Given the description of an element on the screen output the (x, y) to click on. 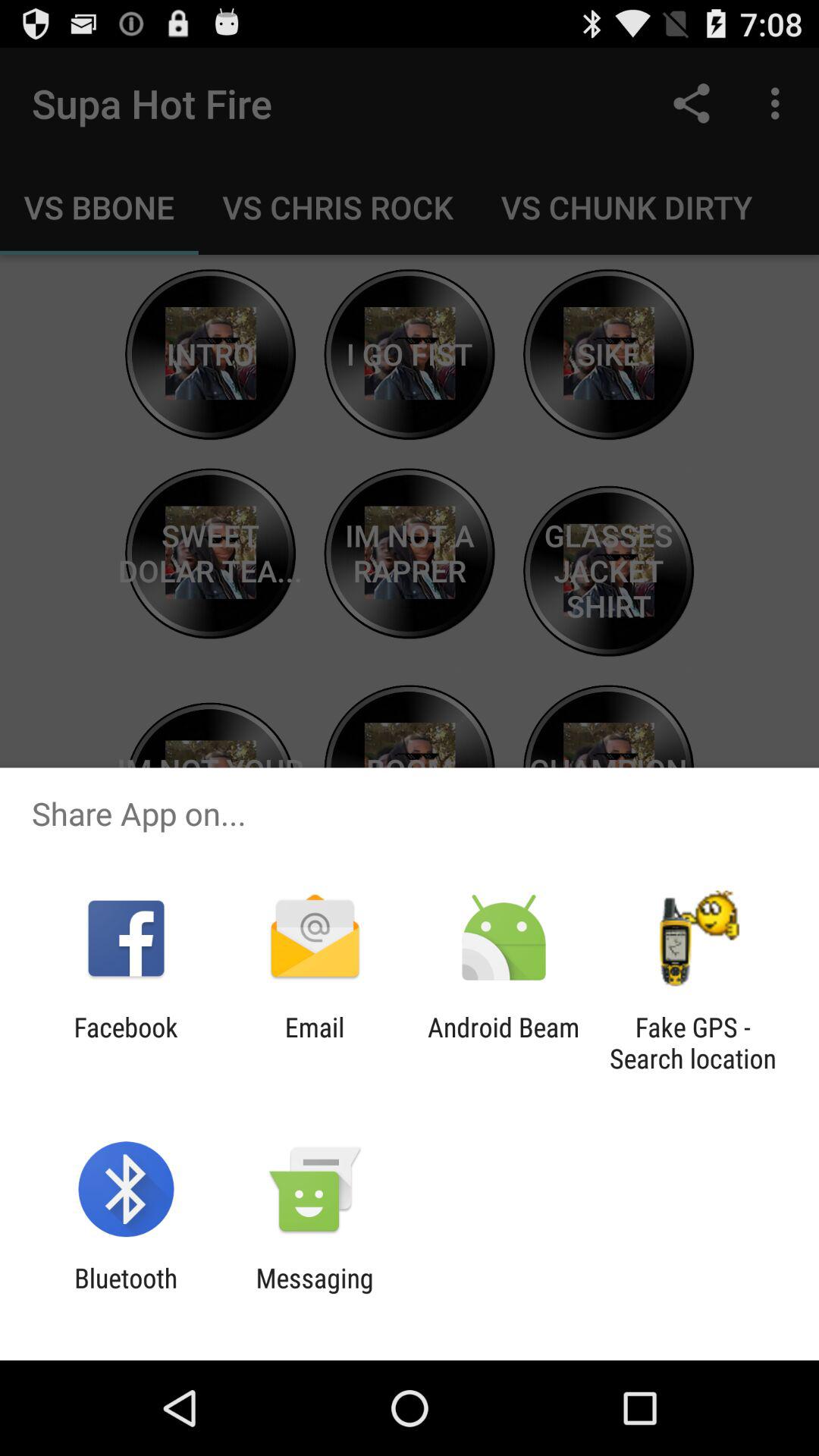
turn on item next to the email (125, 1042)
